Given the description of an element on the screen output the (x, y) to click on. 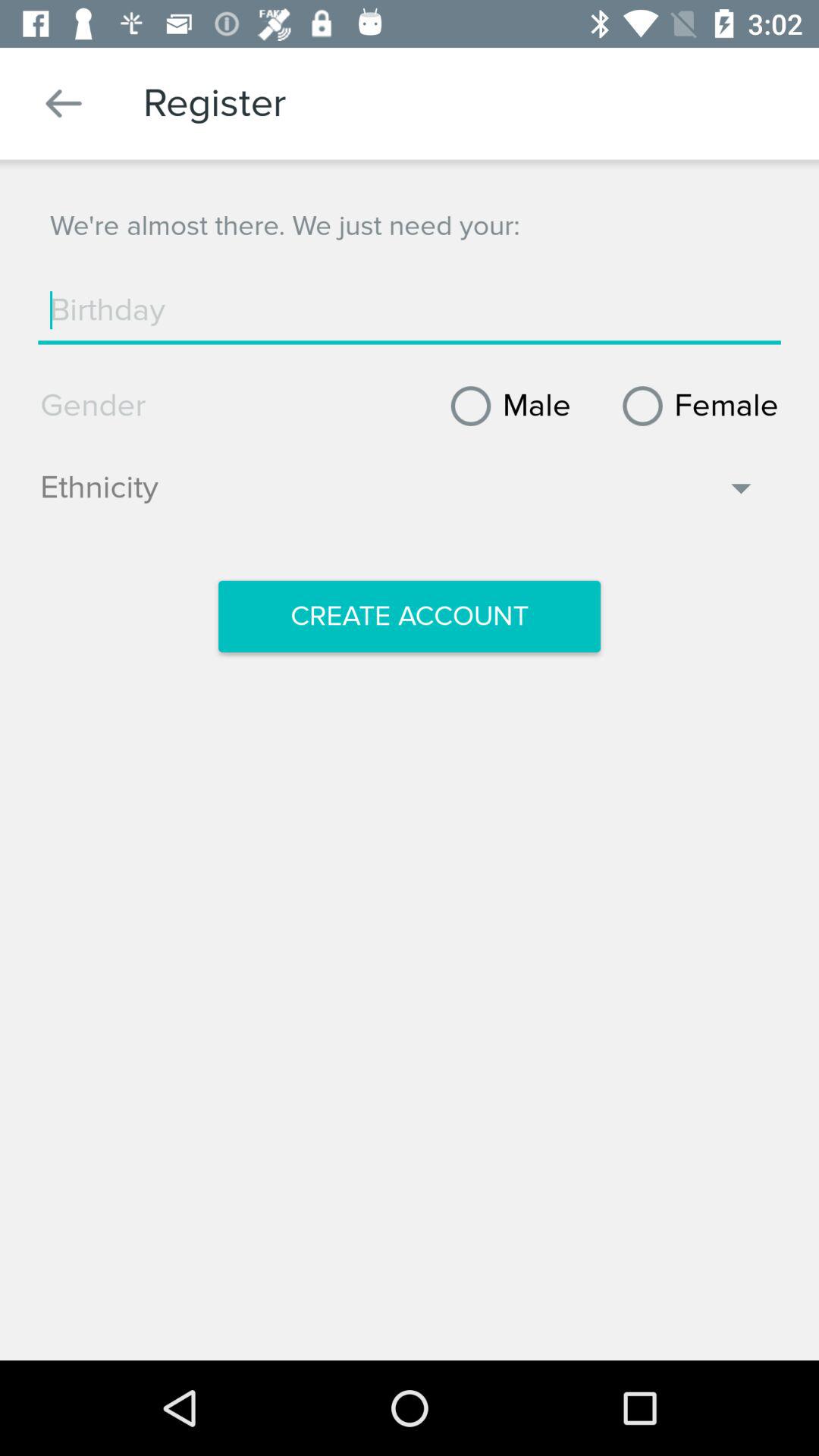
toggle ethnicity option (399, 494)
